Given the description of an element on the screen output the (x, y) to click on. 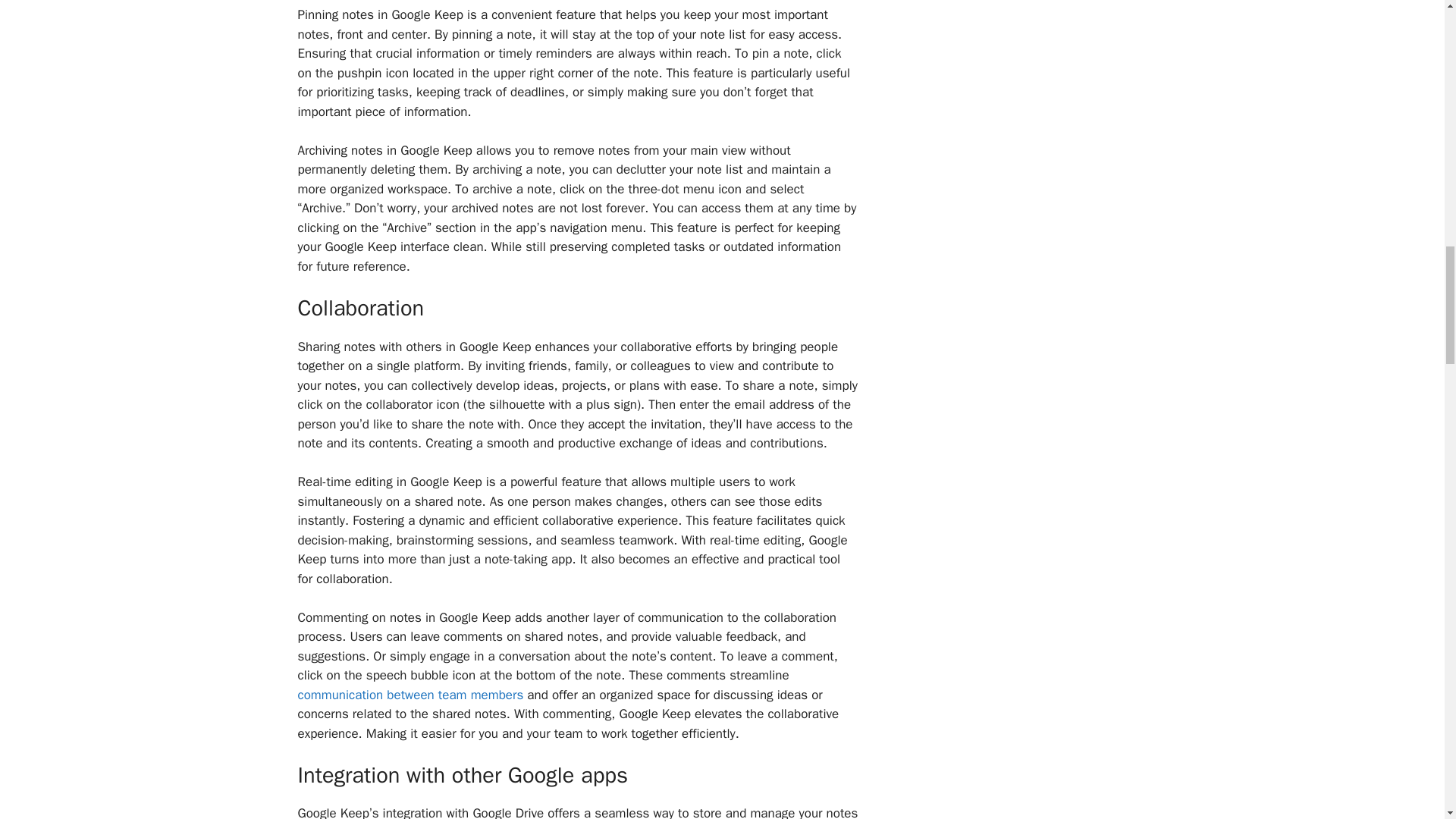
communication between team members (409, 694)
